Given the description of an element on the screen output the (x, y) to click on. 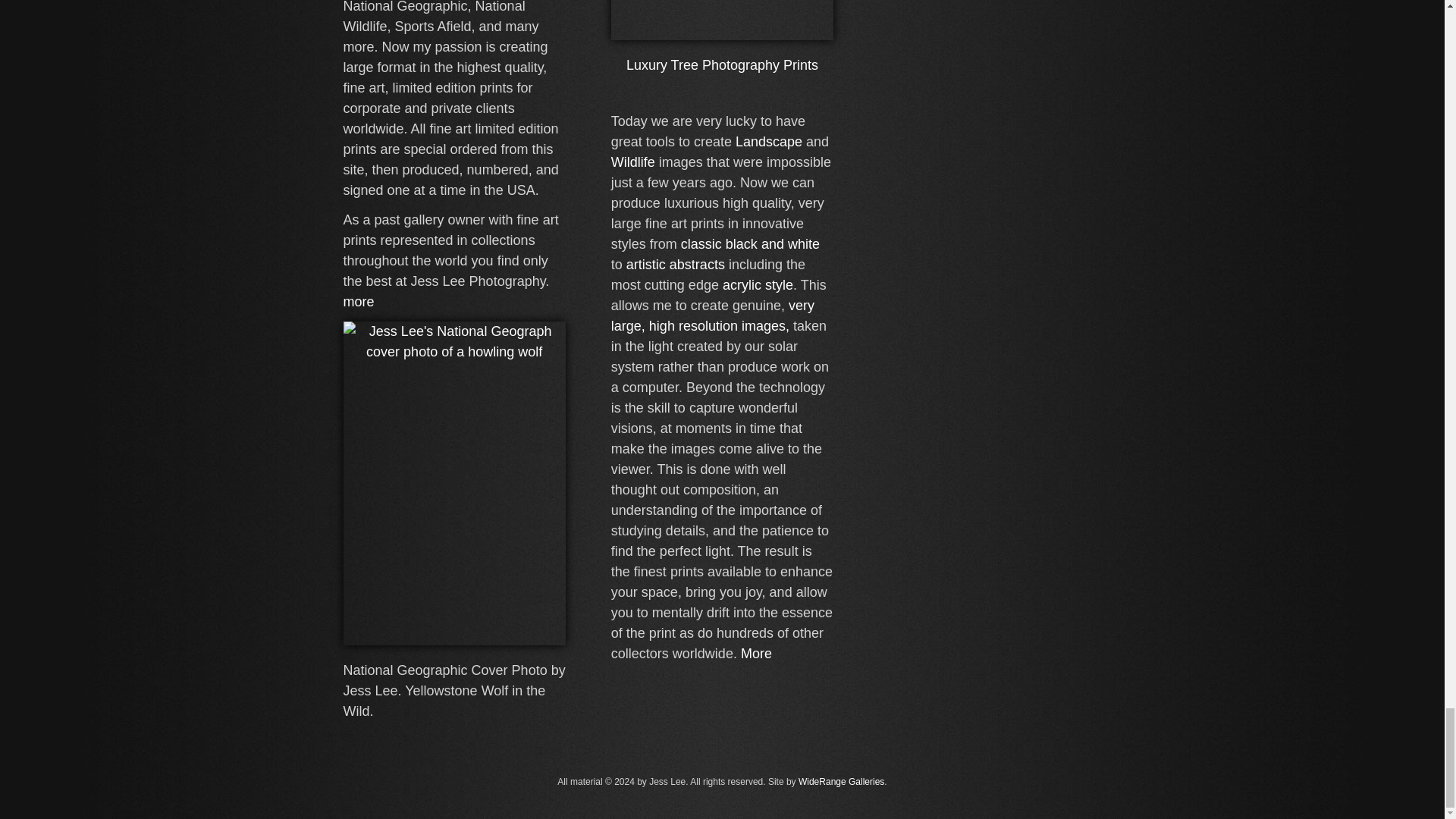
Luxury Tree Photography Prints (722, 64)
Wildlife (633, 161)
Landscape (768, 141)
artistic abstracts (675, 264)
more (358, 301)
classic black and white (750, 243)
